Given the description of an element on the screen output the (x, y) to click on. 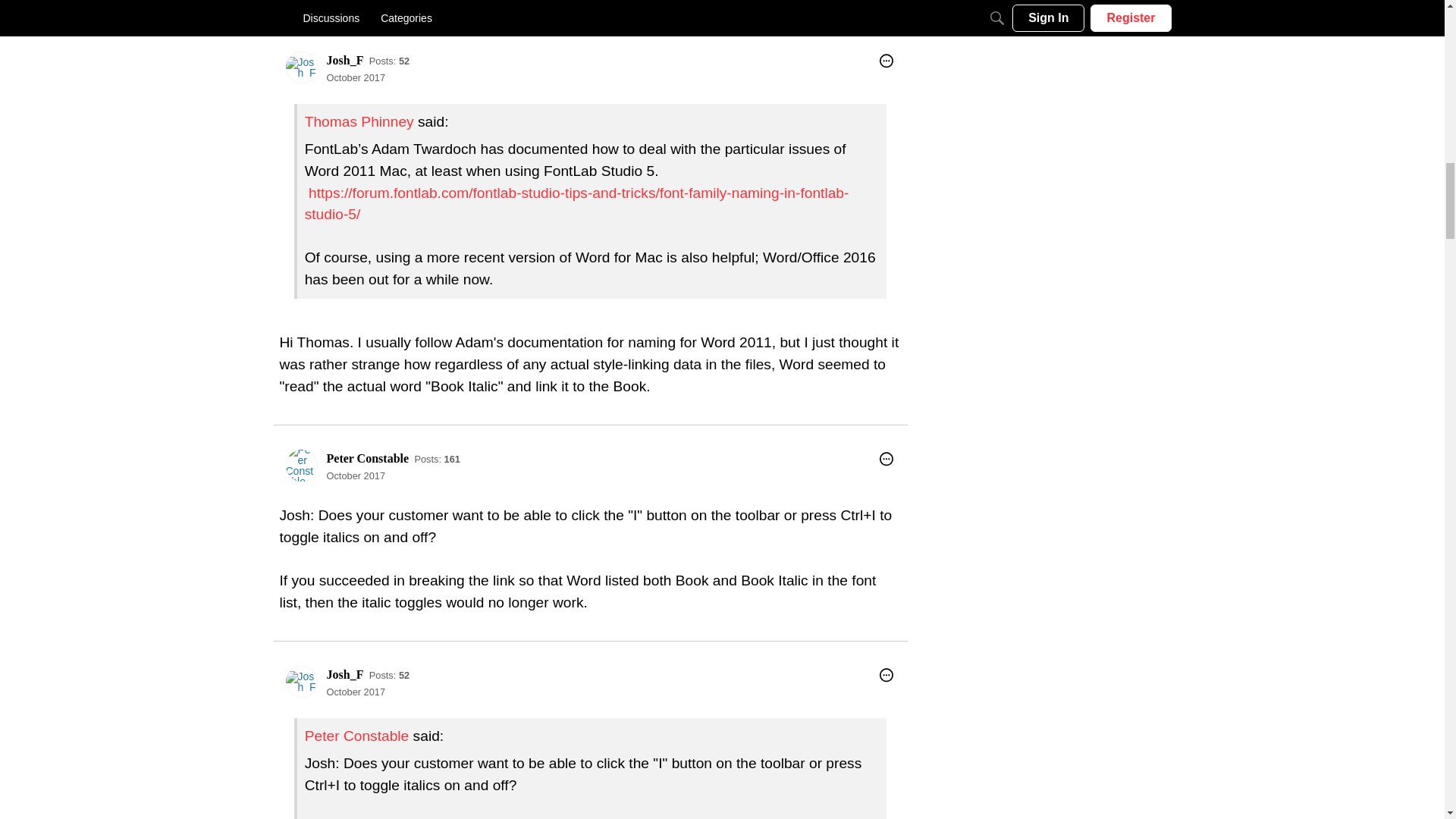
October 16, 2017 2:16PM (355, 77)
Peter Constable (367, 458)
Peter Constable (301, 465)
October 2017 (355, 475)
October 2017 (355, 77)
October 2017 (355, 691)
Thomas Phinney (358, 121)
Peter Constable (356, 735)
